Given the description of an element on the screen output the (x, y) to click on. 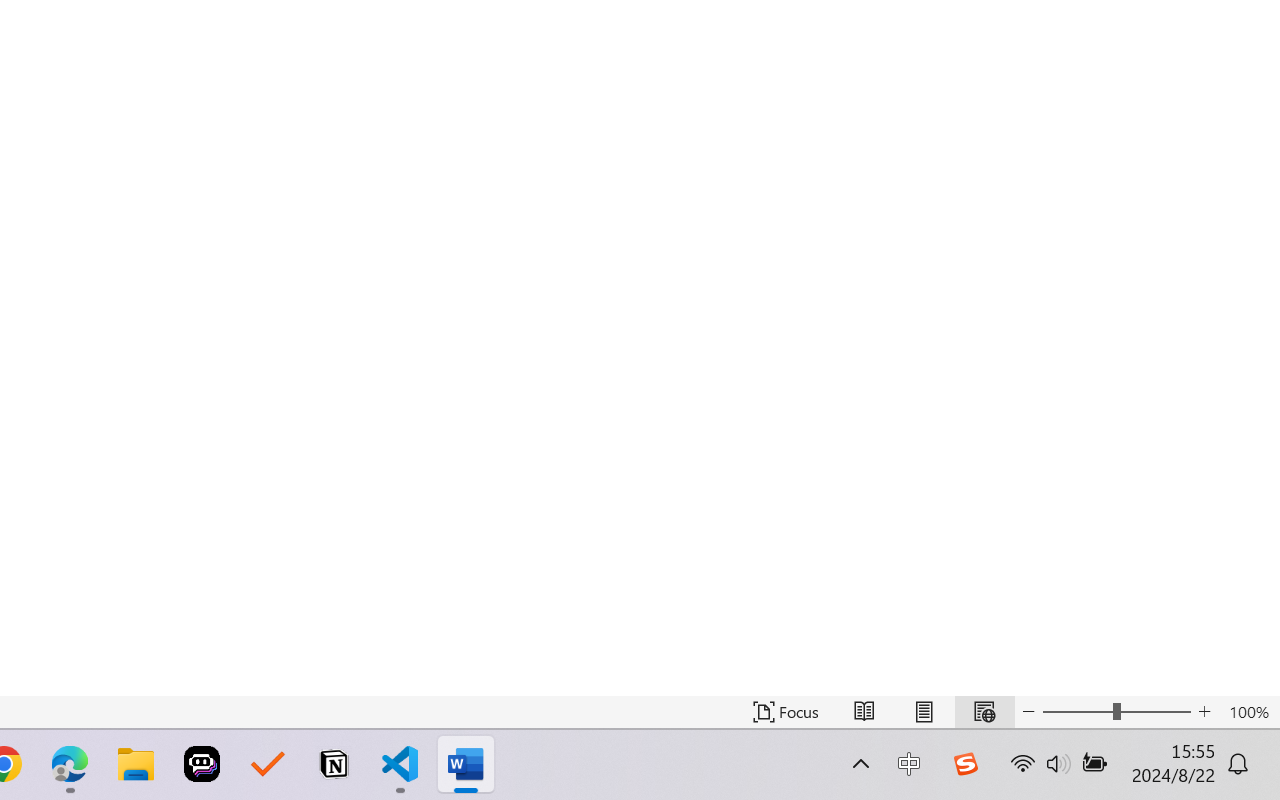
Print Layout (924, 712)
Zoom Out (1077, 712)
Focus  (786, 712)
Zoom (1116, 712)
Read Mode (864, 712)
Zoom In (1204, 712)
Class: Image (965, 764)
Zoom 100% (1249, 712)
Web Layout (984, 712)
